Given the description of an element on the screen output the (x, y) to click on. 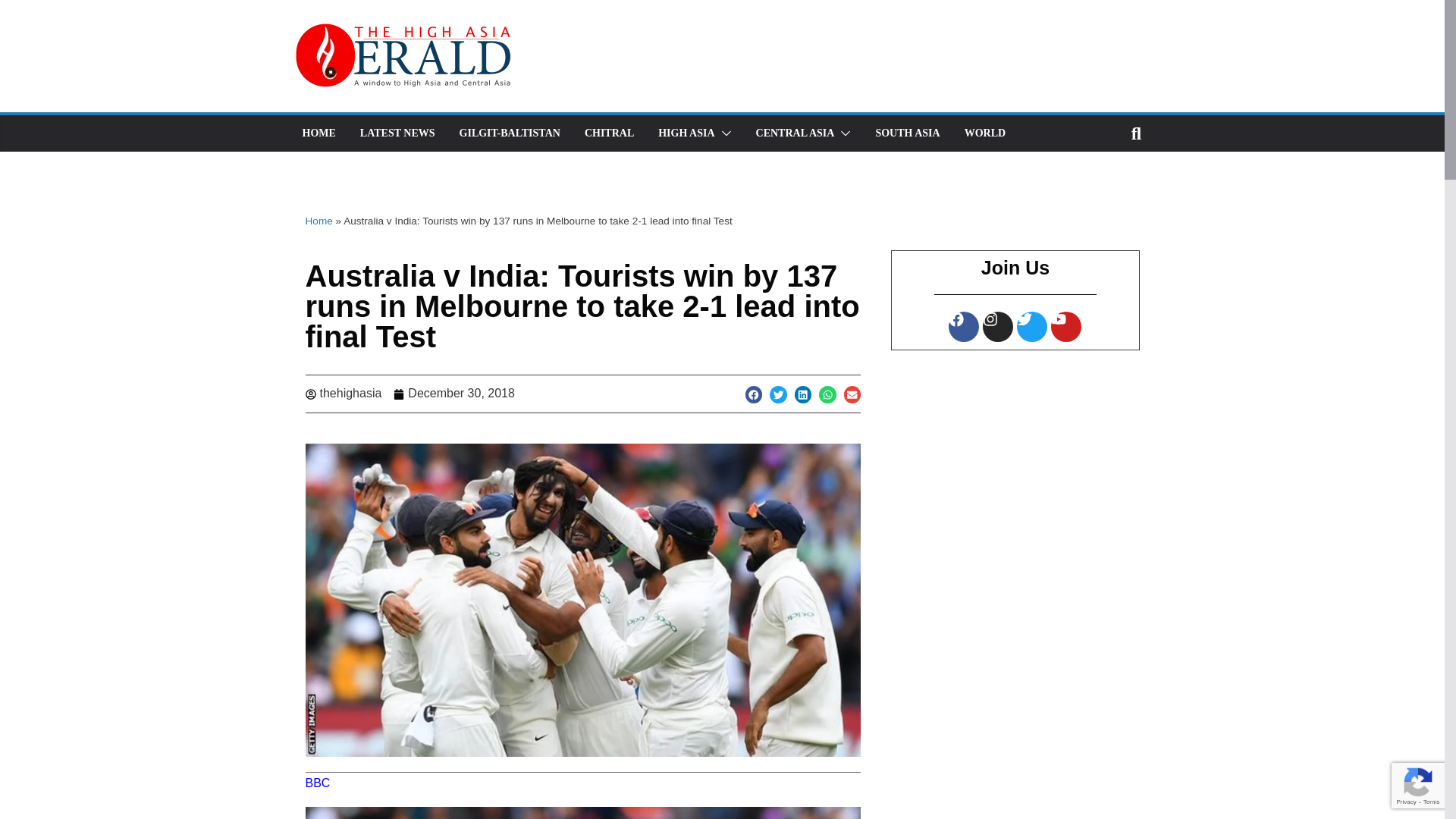
HIGH ASIA (686, 133)
SOUTH ASIA (907, 133)
Home (317, 220)
CHITRAL (609, 133)
WORLD (984, 133)
HOME (317, 133)
LATEST NEWS (397, 133)
thehighasia (342, 393)
CENTRAL ASIA (794, 133)
December 30, 2018 (454, 393)
